Given the description of an element on the screen output the (x, y) to click on. 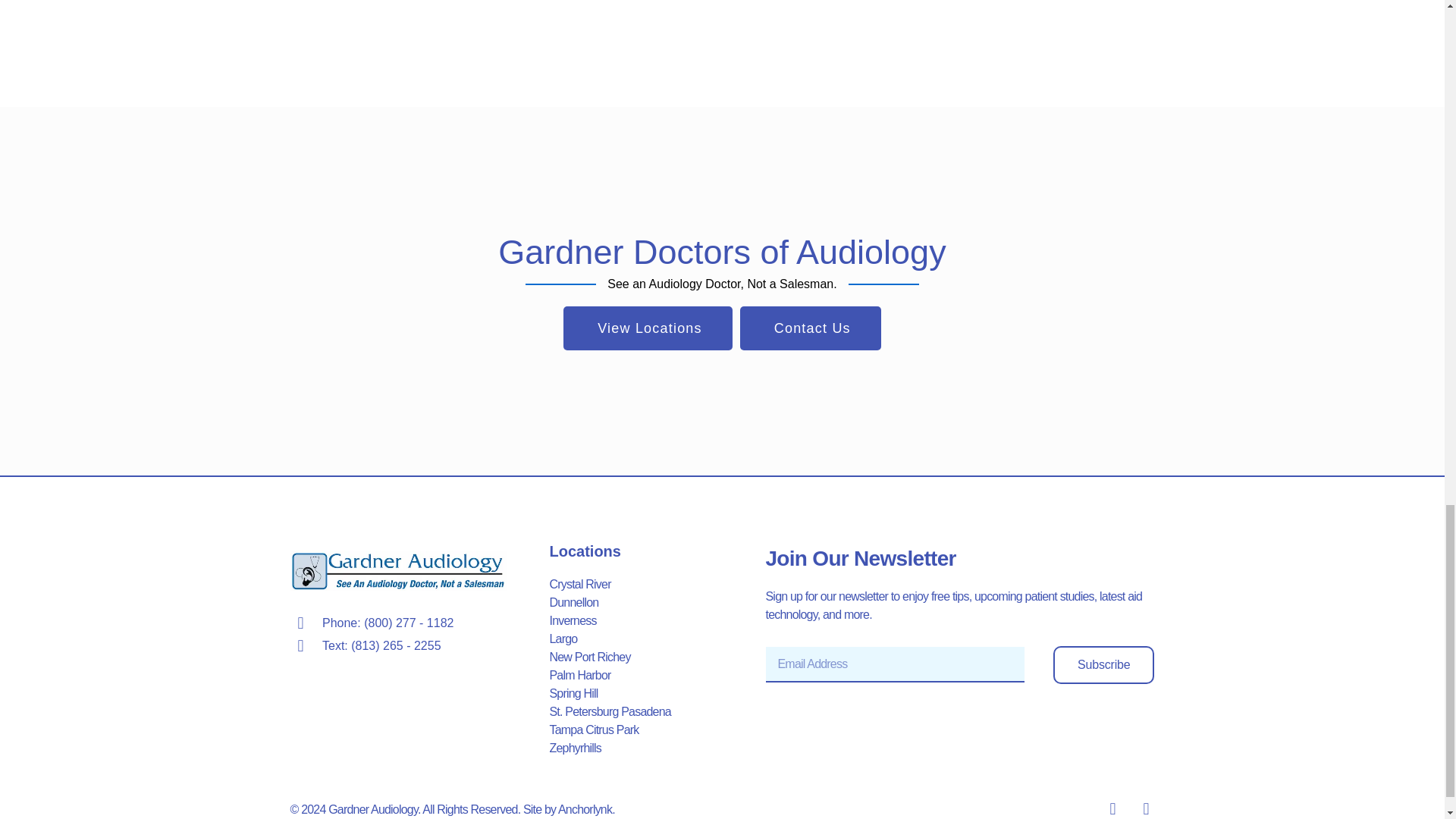
View Locations (647, 328)
Contact Us (809, 328)
